Given the description of an element on the screen output the (x, y) to click on. 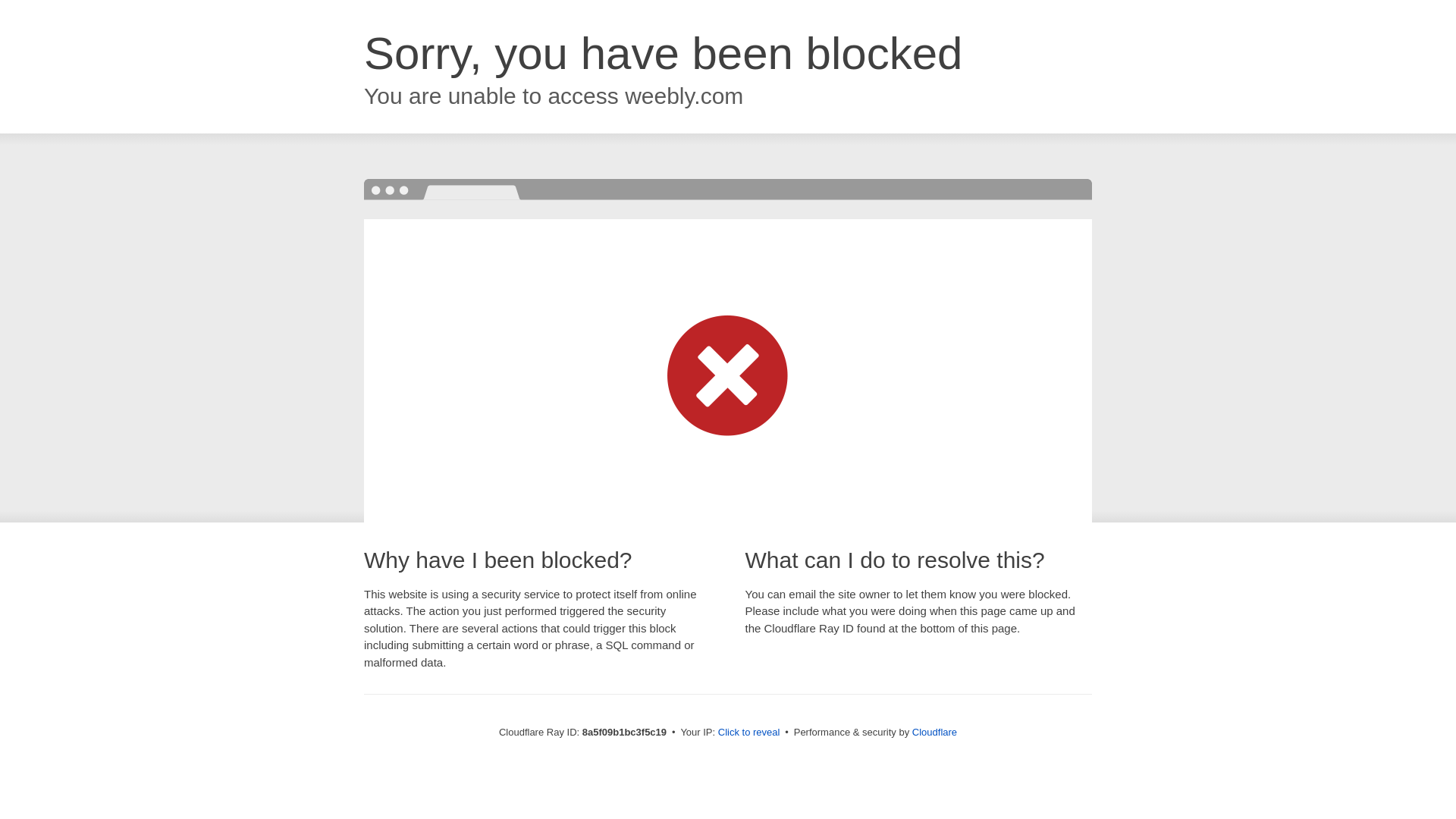
Click to reveal (748, 732)
Cloudflare (934, 731)
